Given the description of an element on the screen output the (x, y) to click on. 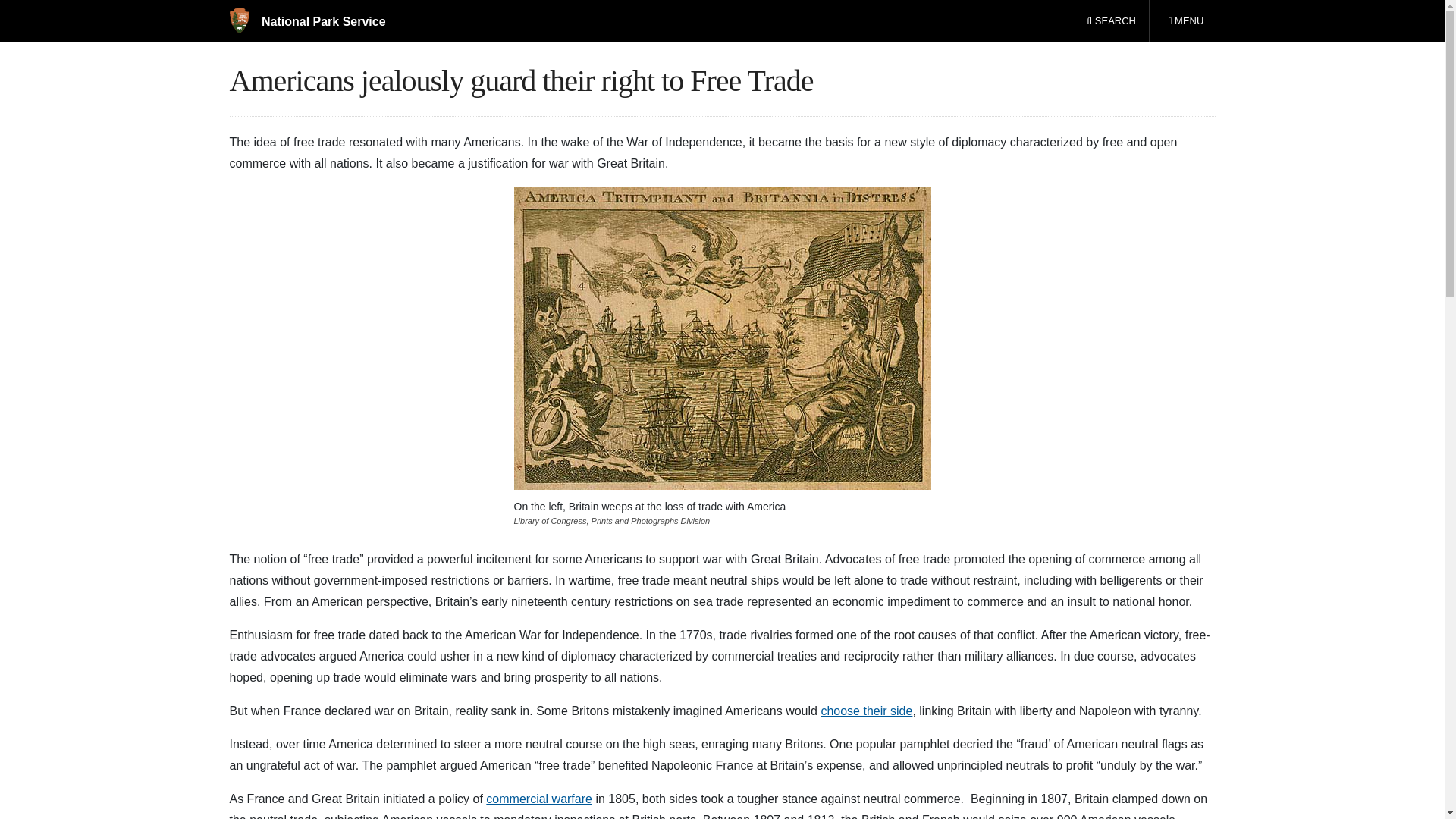
choose their side (866, 709)
commercial warfare (539, 797)
National Park Service (307, 20)
SEARCH (1185, 20)
